Given the description of an element on the screen output the (x, y) to click on. 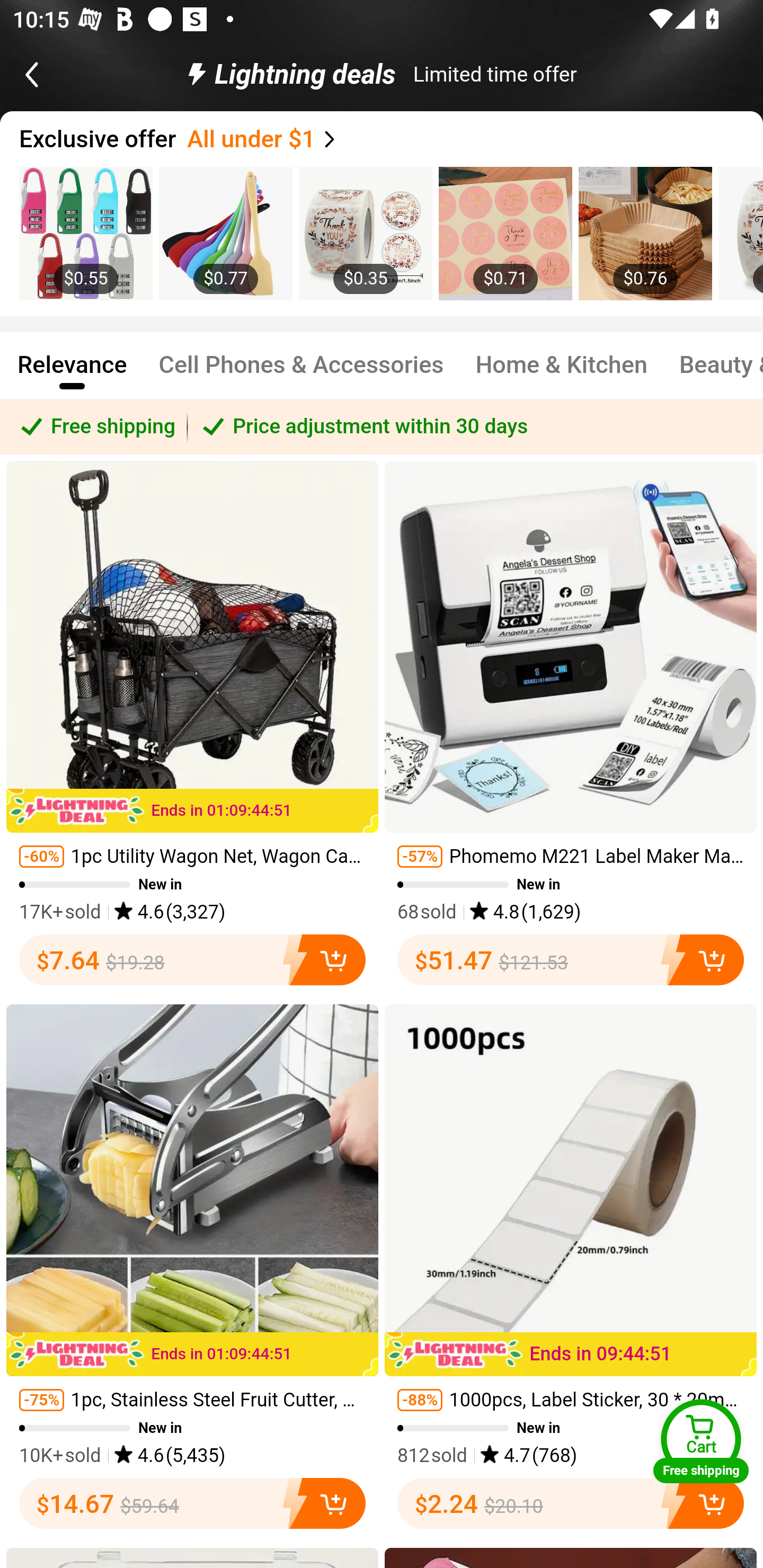
Back (50, 74)
Exclusive offer All under $1 (391, 138)
Relevance (72, 373)
Cell Phones & Accessories (300, 373)
Home & Kitchen (561, 373)
Free shipping (94, 426)
Price adjustment within 30 days (475, 426)
$7.64 $19.28 (192, 959)
$51.47 $121.53 (570, 959)
Cart Free shipping Cart (701, 1440)
$14.67 $59.64 (192, 1503)
$2.24 $20.10 (570, 1503)
